Given the description of an element on the screen output the (x, y) to click on. 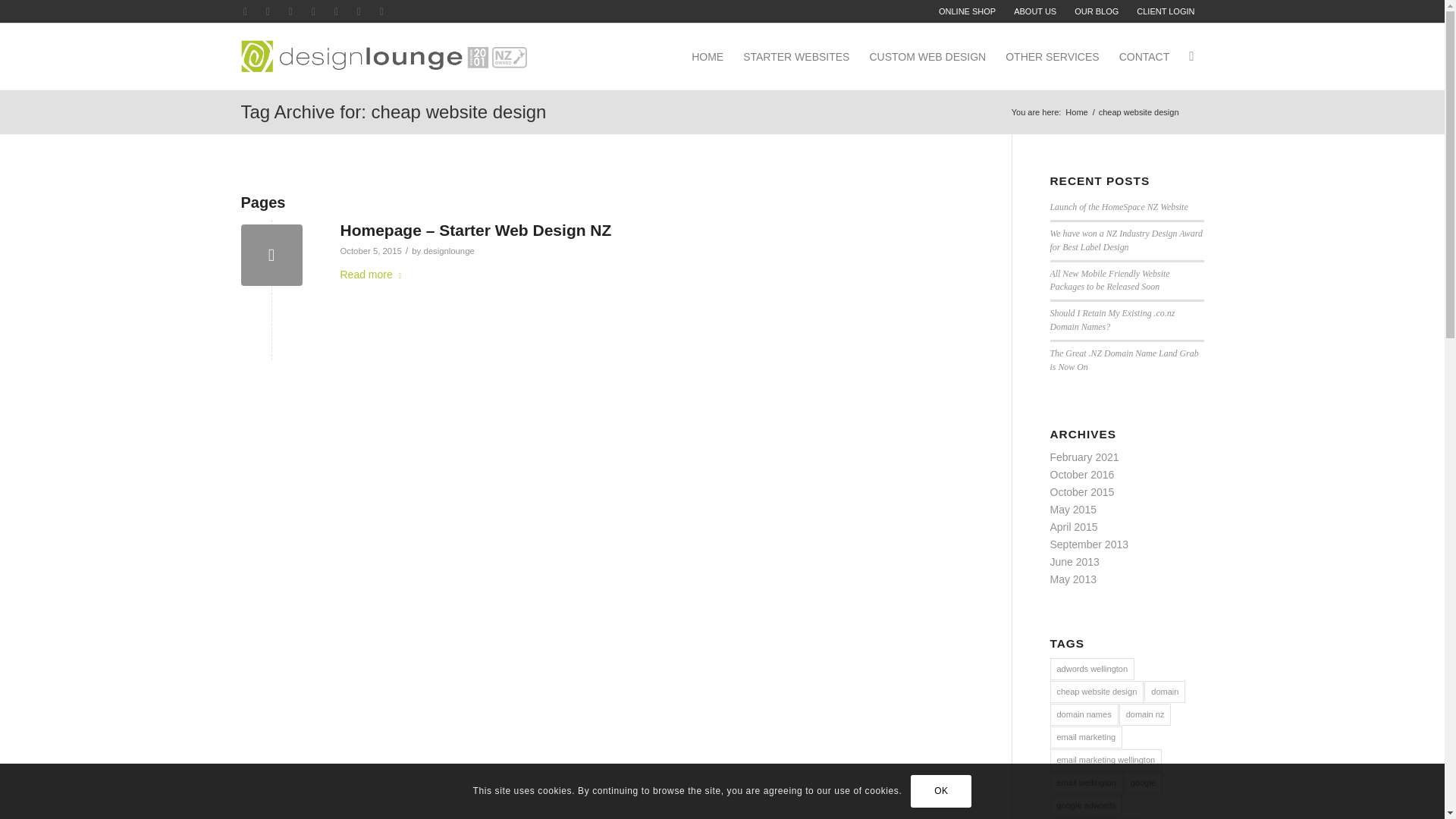
Facebook (267, 11)
Pinterest (290, 11)
STARTER WEBSITES (796, 56)
Instagram (335, 11)
Design Lounge (1075, 112)
Posts by designlounge (448, 250)
Rss (358, 11)
CLIENT LOGIN (1165, 11)
ONLINE SHOP (967, 11)
Homepage - Starter Web Design NZ (271, 254)
Mail (381, 11)
HOME (707, 56)
OUR BLOG (1095, 11)
CUSTOM WEB DESIGN (927, 56)
X (244, 11)
